Given the description of an element on the screen output the (x, y) to click on. 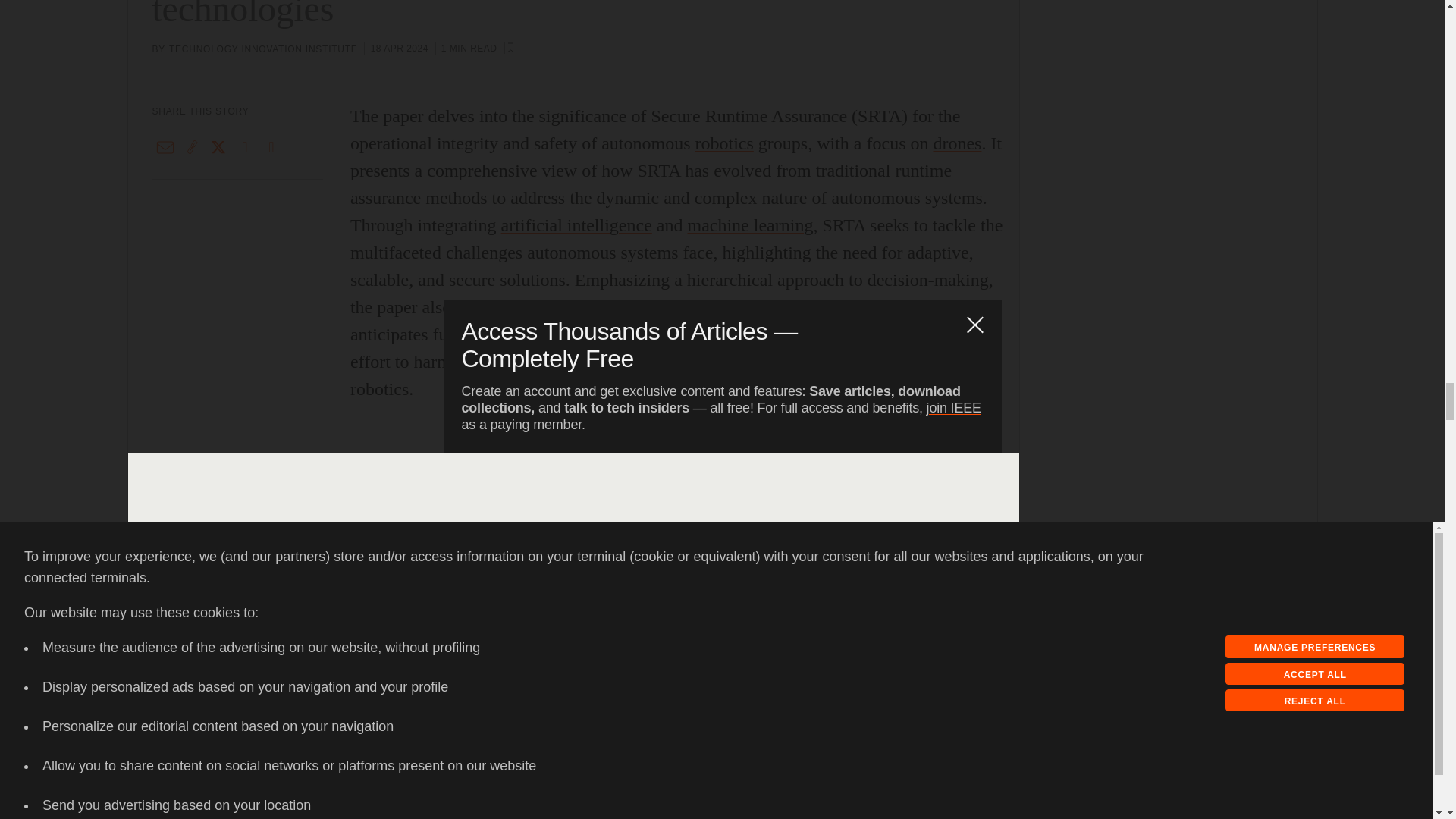
Copy this link to clipboard (192, 147)
